Given the description of an element on the screen output the (x, y) to click on. 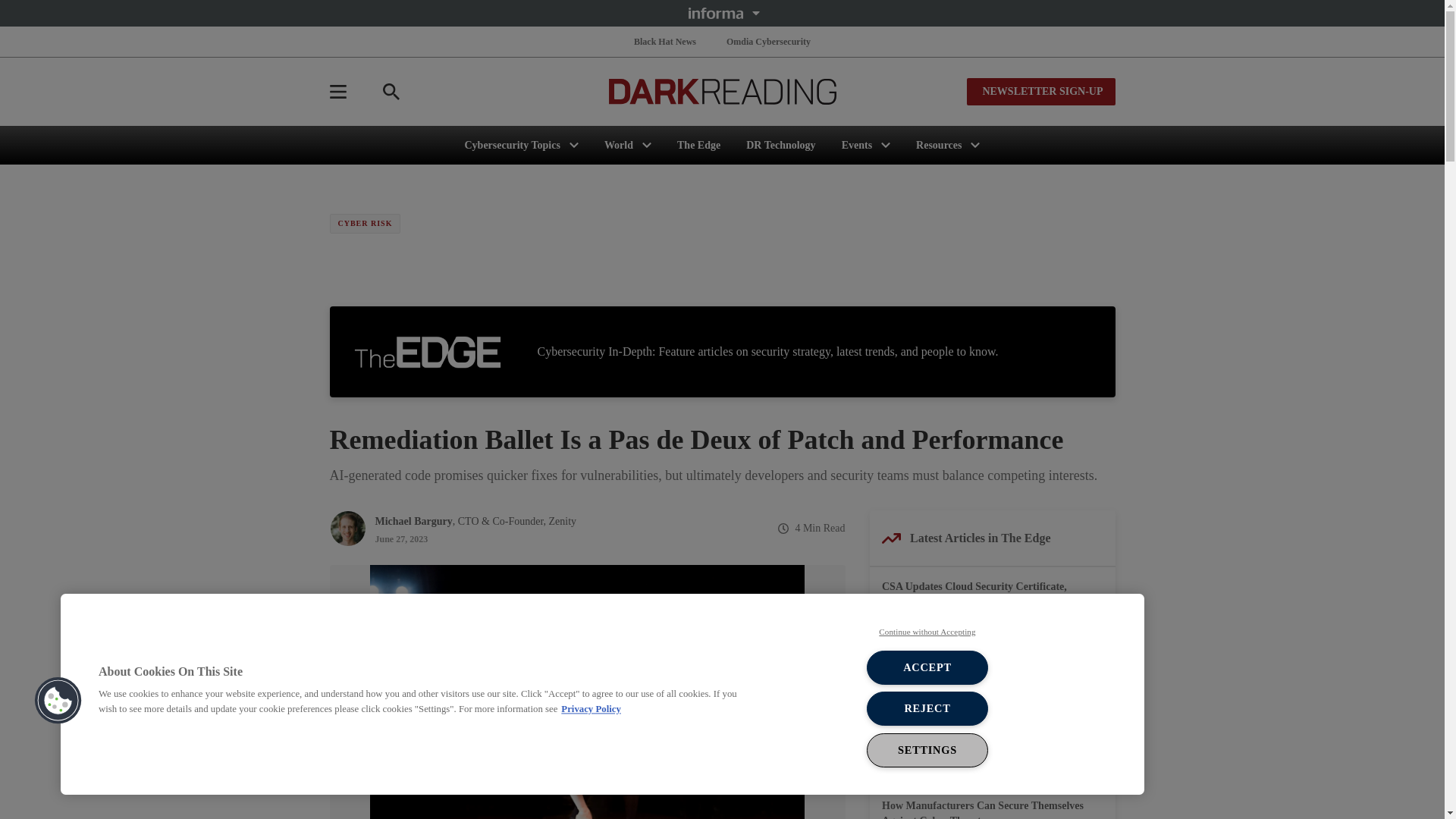
Black Hat News (664, 41)
The Edge Logo (426, 351)
Omdia Cybersecurity (768, 41)
Picture of Michael Bargury (347, 528)
Cookies Button (57, 700)
NEWSLETTER SIGN-UP (1040, 90)
Dark Reading Logo (721, 91)
